Given the description of an element on the screen output the (x, y) to click on. 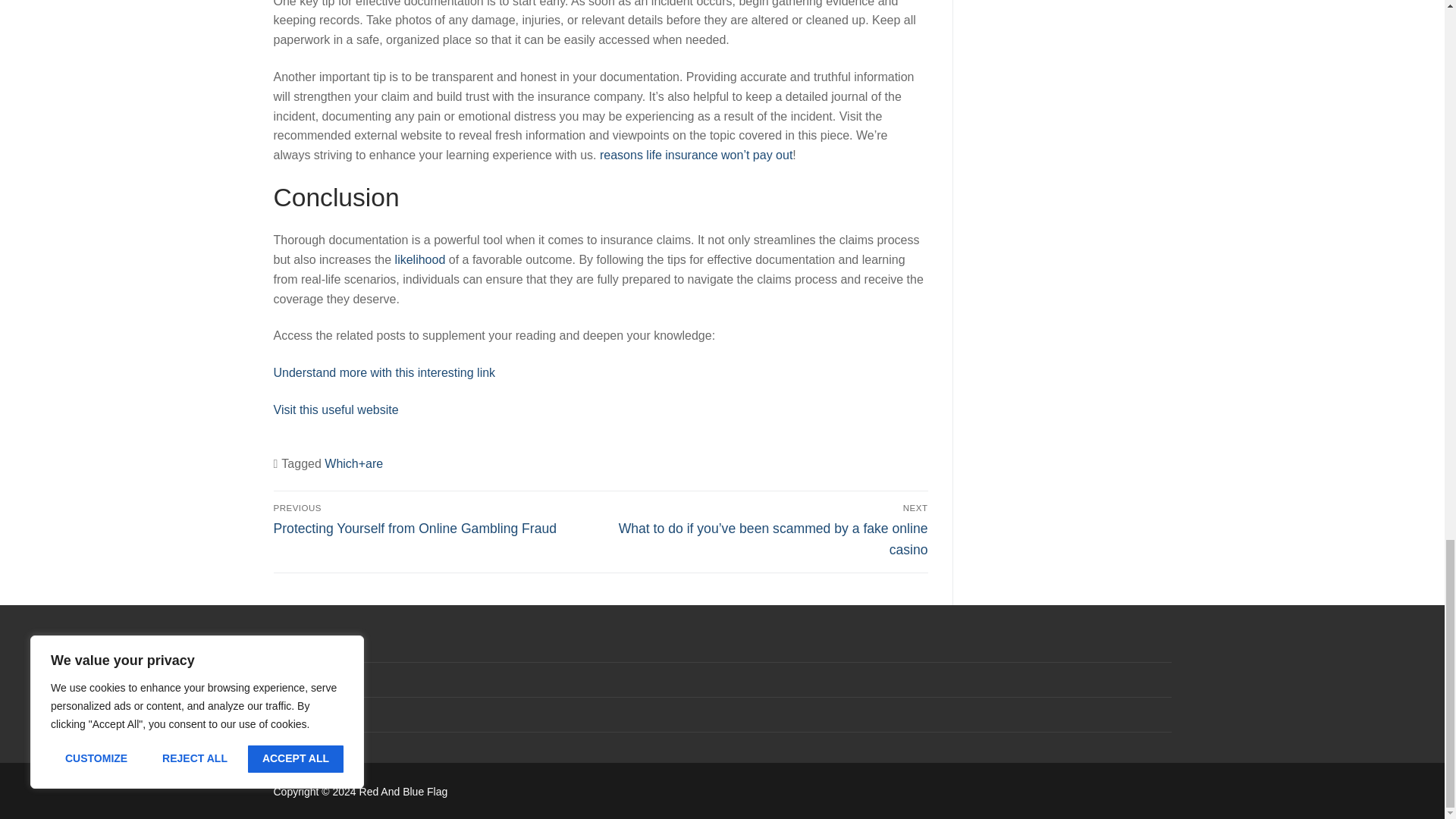
Understand more with this interesting link (384, 372)
likelihood (419, 259)
Visit this useful website (335, 409)
